Given the description of an element on the screen output the (x, y) to click on. 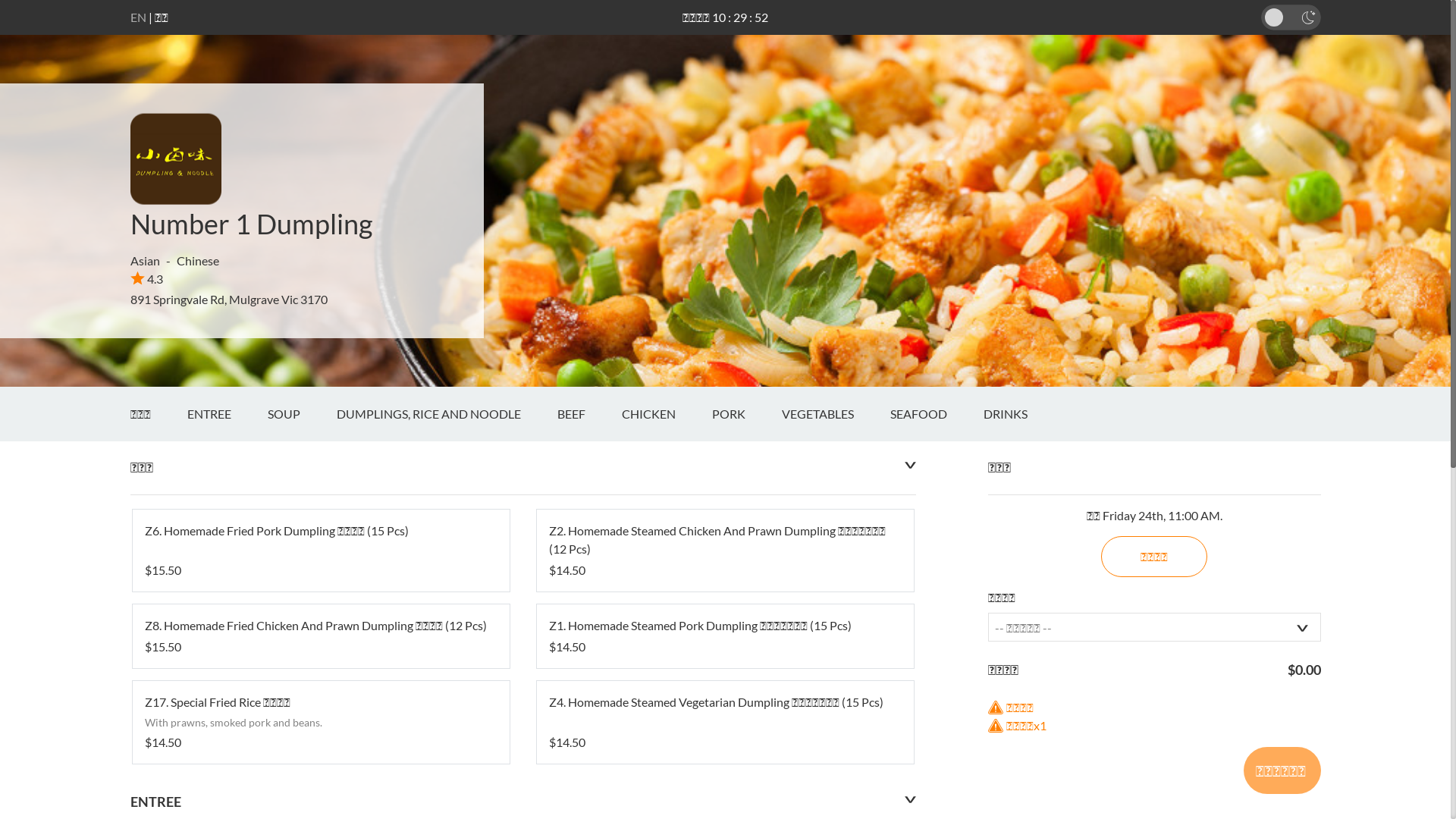
CHICKEN Element type: text (666, 413)
SOUP Element type: text (300, 413)
DUMPLINGS, RICE AND NOODLE Element type: text (446, 413)
BEEF Element type: text (588, 413)
4.3 Element type: text (146, 278)
ENTREE Element type: text (226, 413)
SEAFOOD Element type: text (936, 413)
DRINKS Element type: text (1022, 413)
VEGETABLES Element type: text (835, 413)
PORK Element type: text (746, 413)
Number 1 Dumpling Element type: text (251, 223)
EN Element type: text (138, 16)
